Given the description of an element on the screen output the (x, y) to click on. 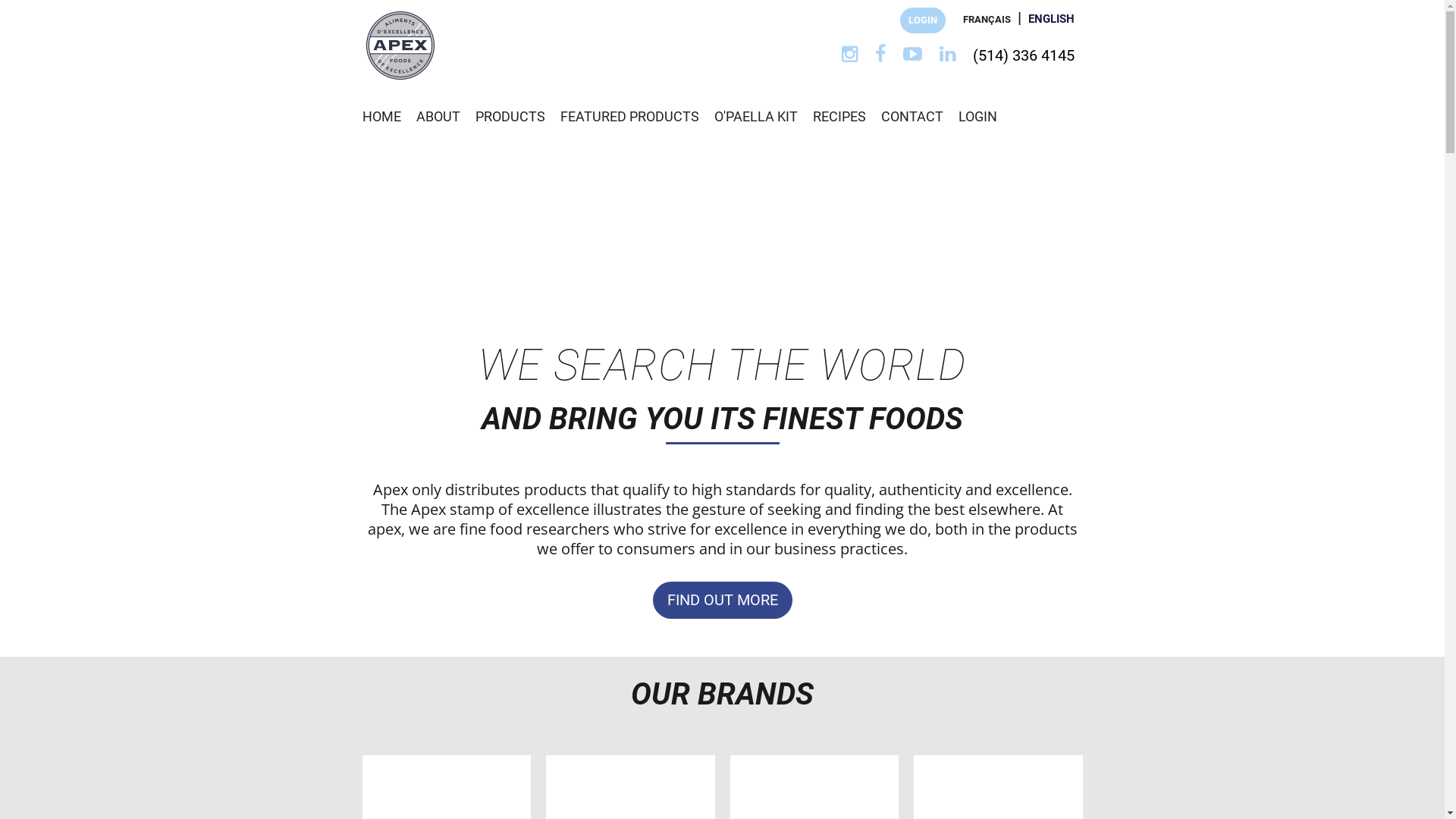
RECIPES Element type: text (839, 116)
HOME Element type: text (381, 116)
(514) 336 4145 Element type: text (1023, 55)
LOGIN Element type: text (922, 20)
CONTACT Element type: text (912, 116)
FIND OUT MORE Element type: text (721, 599)
PRODUCTS Element type: text (509, 116)
FEATURED PRODUCTS Element type: text (628, 116)
O'PAELLA KIT Element type: text (755, 116)
ABOUT Element type: text (437, 116)
LOGIN Element type: text (977, 116)
